Given the description of an element on the screen output the (x, y) to click on. 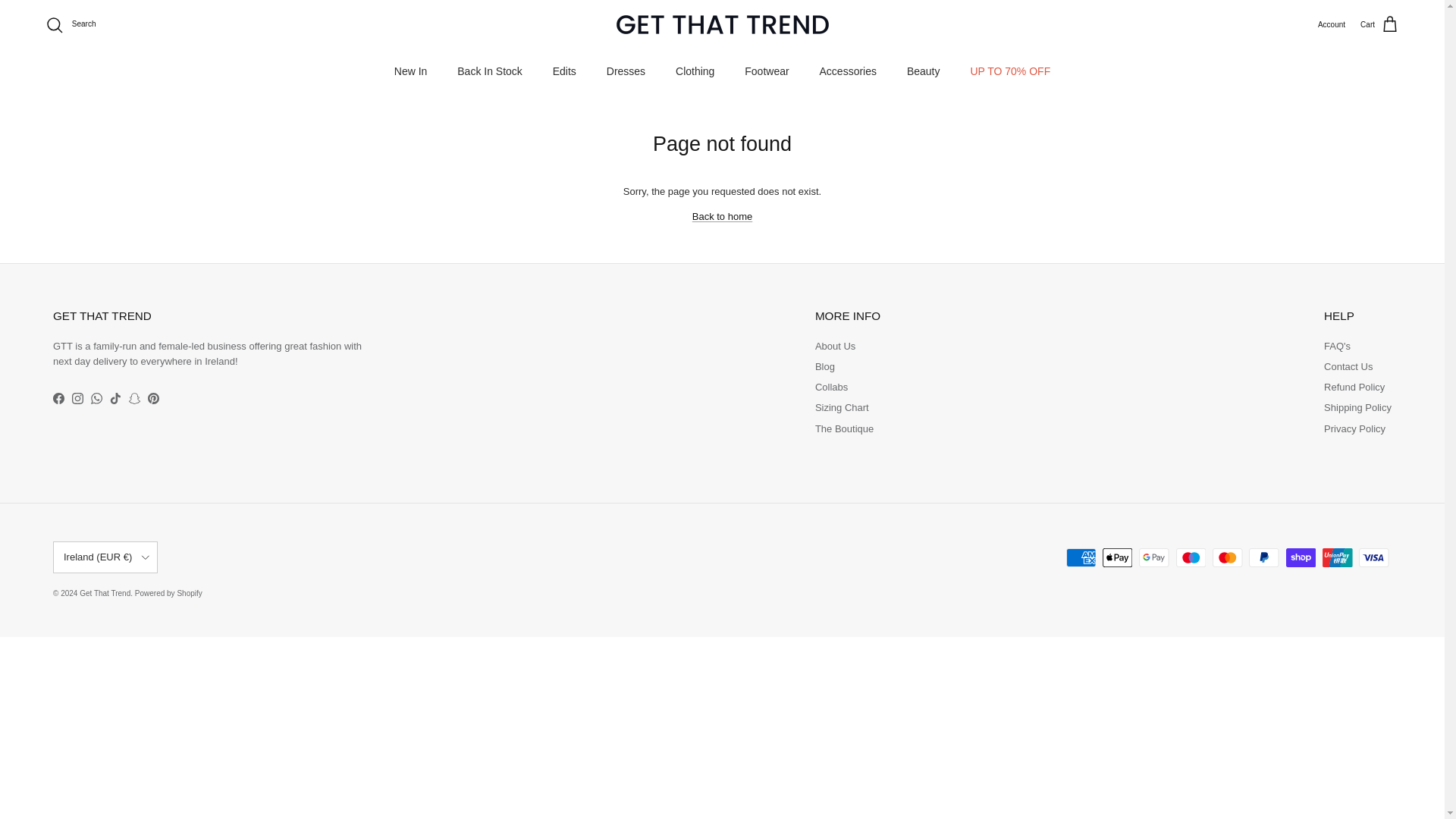
Get That Trend (721, 24)
Cart (1379, 25)
Dresses (625, 71)
Google Pay (1153, 557)
Get That Trend on WhatsApp (95, 398)
PayPal (1263, 557)
Get That Trend on Pinterest (153, 398)
American Express (1080, 557)
Back In Stock (489, 71)
Union Pay (1337, 557)
